Given the description of an element on the screen output the (x, y) to click on. 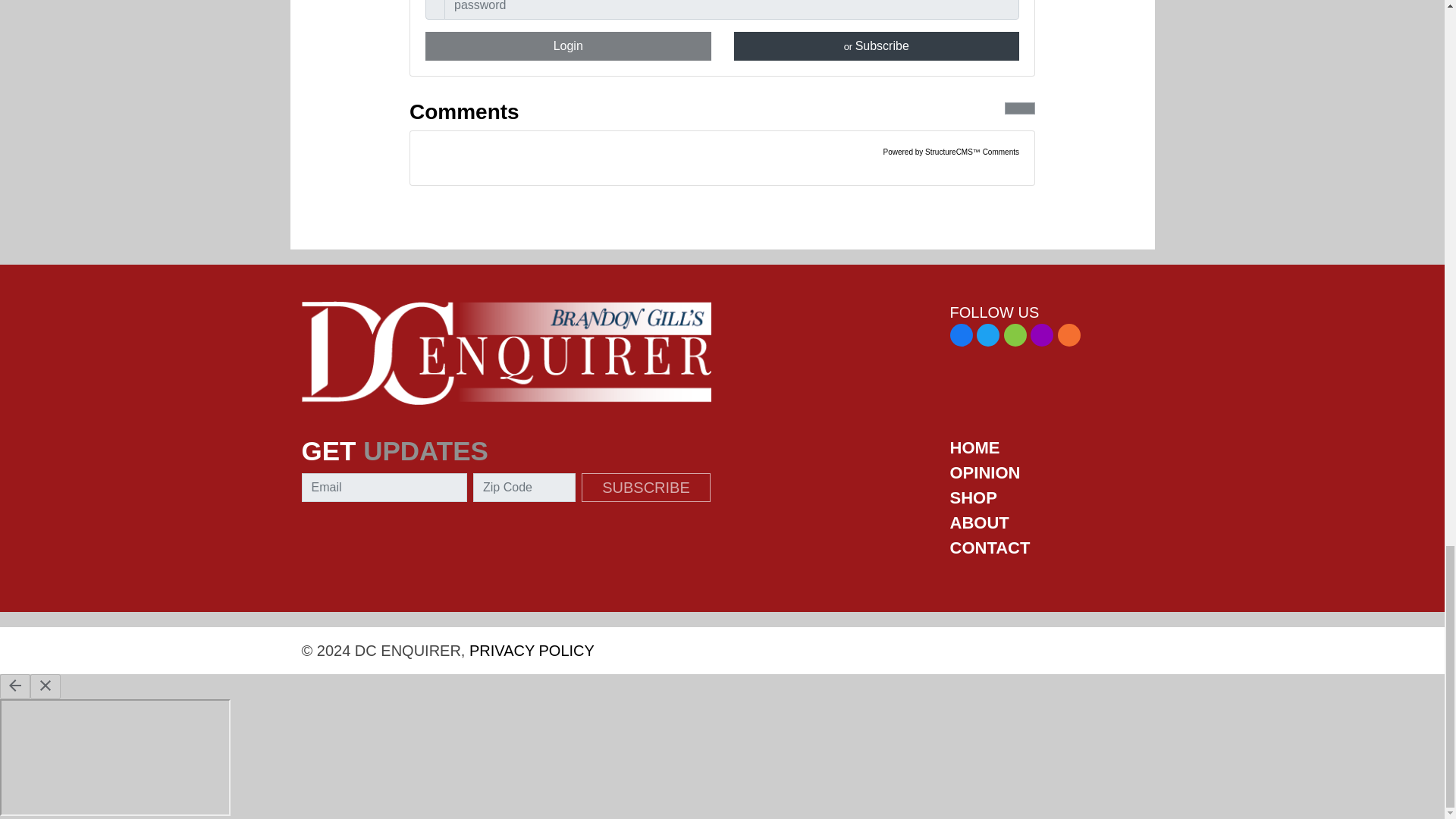
Rumble (1015, 334)
Login (568, 45)
Facebook (960, 334)
Twitter (987, 334)
Truth (1041, 334)
RSS (1069, 334)
or Subscribe (876, 45)
Toggle Order (1019, 108)
